Given the description of an element on the screen output the (x, y) to click on. 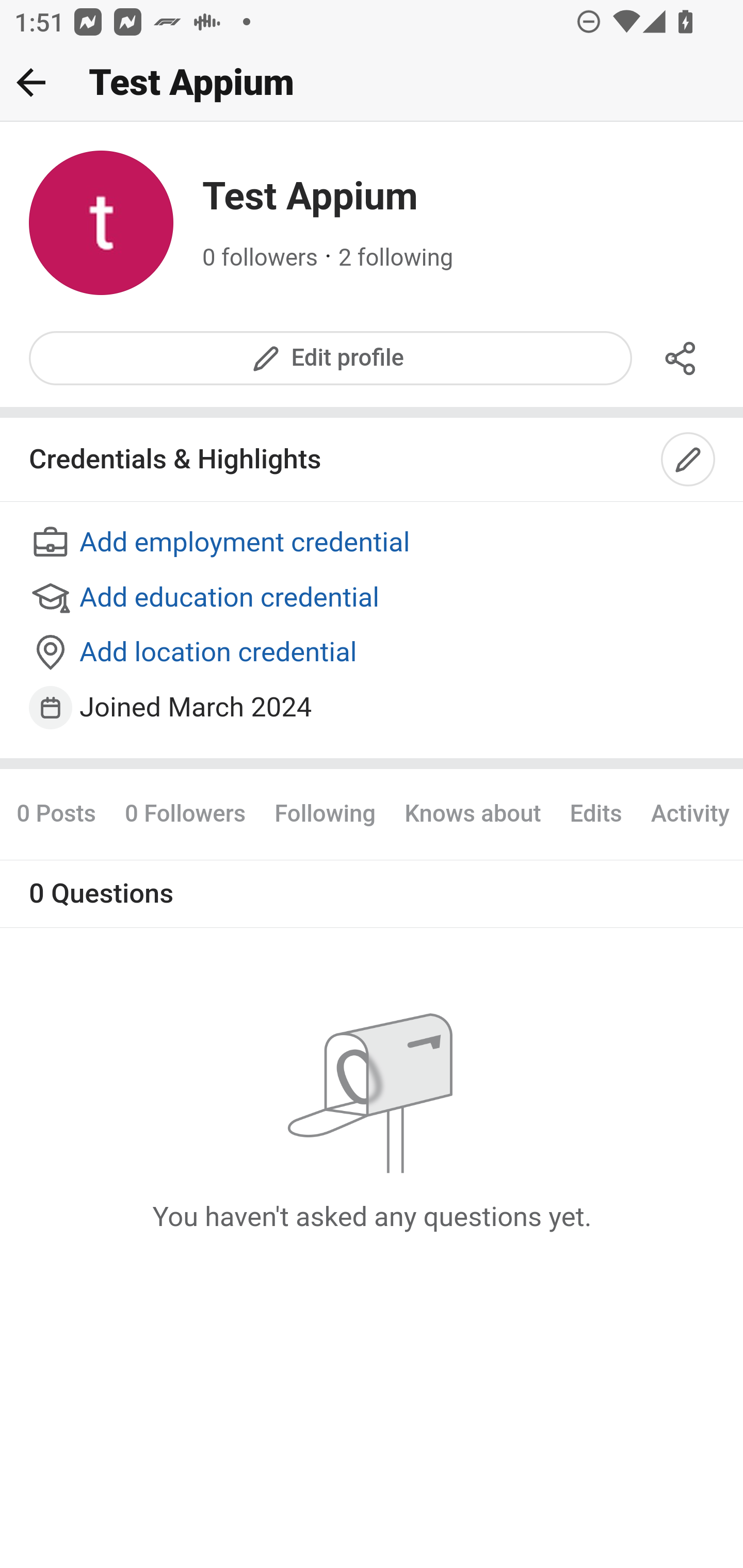
Back (30, 82)
0 followers (260, 257)
2 following (395, 257)
Share (681, 358)
Edit profile (330, 357)
Edit credentials (688, 459)
Add employment credential (372, 543)
Add education credential (372, 598)
Add location credential (372, 653)
0 Posts (63, 813)
0 Followers (184, 813)
Following (325, 813)
Knows about (473, 813)
Edits (595, 813)
Activity (689, 813)
